Given the description of an element on the screen output the (x, y) to click on. 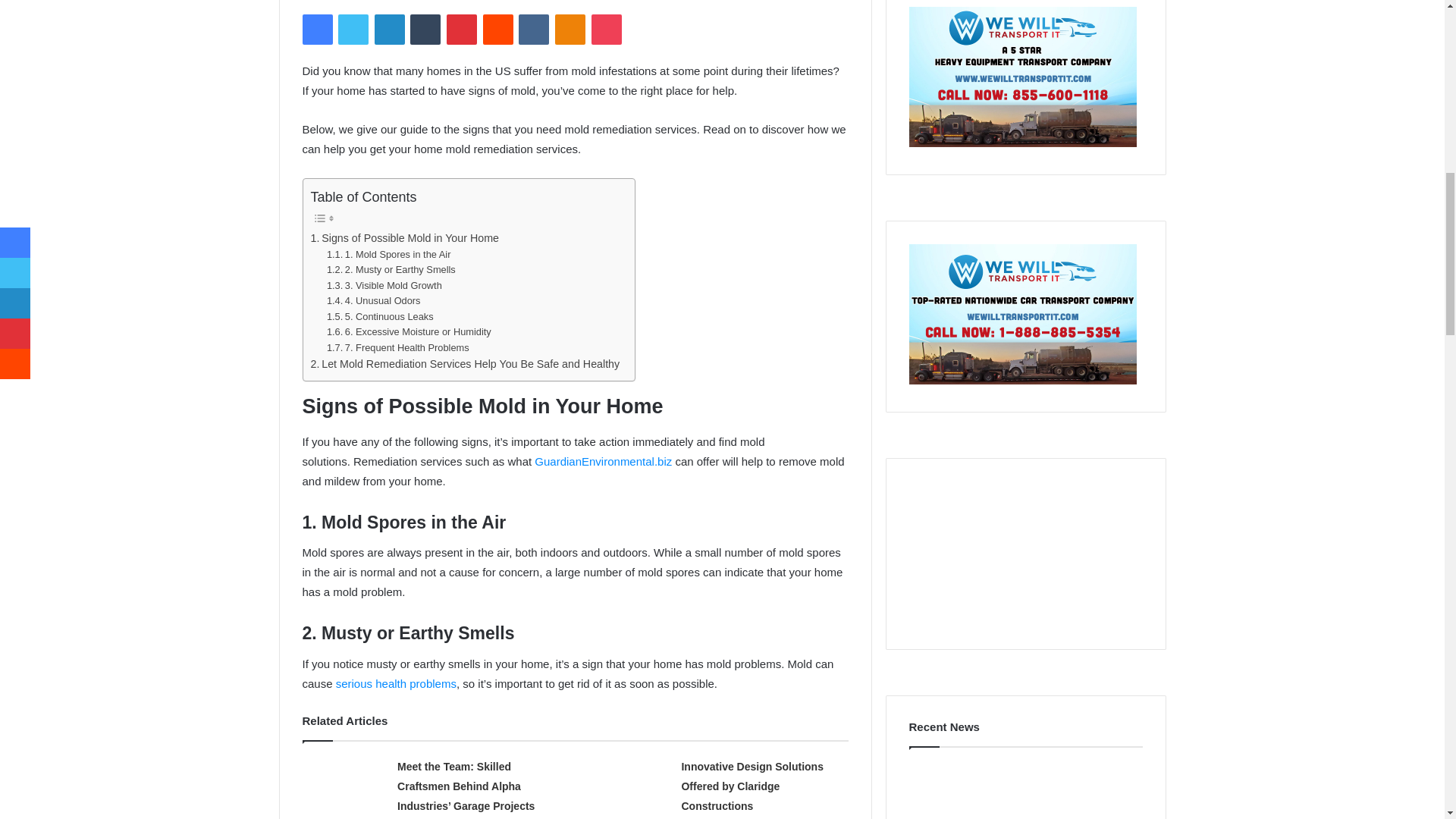
Facebook (316, 29)
VKontakte (533, 29)
Facebook (316, 29)
LinkedIn (389, 29)
1. Mold Spores in the Air (388, 254)
2. Musty or Earthy Smells (390, 270)
Pocket (606, 29)
Pinterest (461, 29)
Twitter (352, 29)
Odnoklassniki (569, 29)
Reddit (498, 29)
Tumblr (425, 29)
Twitter (352, 29)
